Given the description of an element on the screen output the (x, y) to click on. 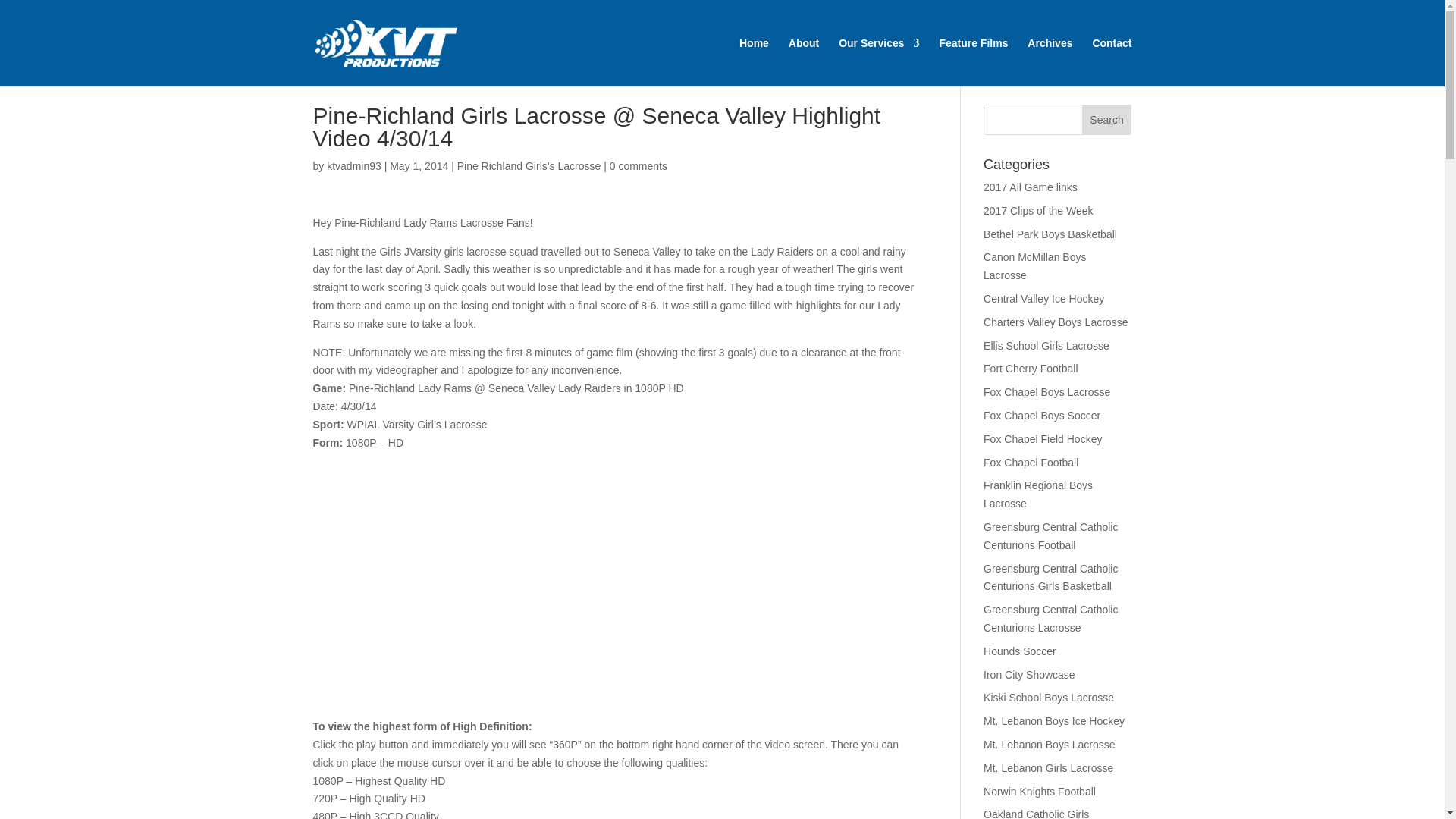
Feature Films (973, 61)
Posts by ktvadmin93 (353, 165)
2017 Clips of the Week (1038, 210)
Central Valley Ice Hockey (1043, 298)
2017 All Game links (1030, 186)
Fox Chapel Boys Soccer (1042, 415)
Iron City Showcase (1029, 674)
Fox Chapel Boys Lacrosse (1046, 391)
Franklin Regional Boys Lacrosse (1038, 494)
Ellis School Girls Lacrosse (1046, 345)
ktvadmin93 (353, 165)
Bethel Park Boys Basketball (1050, 234)
Our Services (878, 61)
0 comments (638, 165)
Charters Valley Boys Lacrosse (1055, 322)
